Given the description of an element on the screen output the (x, y) to click on. 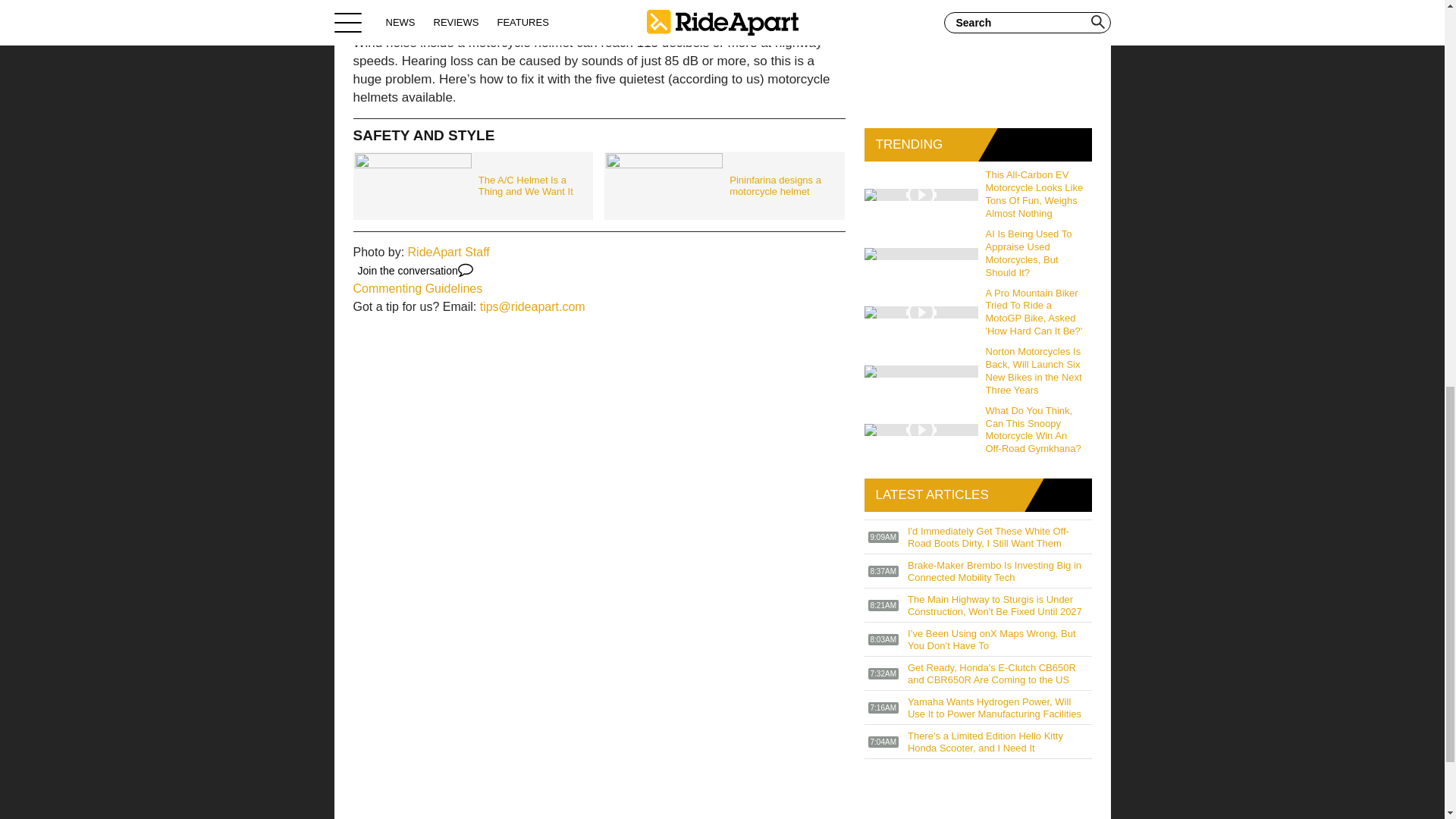
Pininfarina designs a motorcycle helmet (724, 185)
RideApart Staff (448, 251)
